Given the description of an element on the screen output the (x, y) to click on. 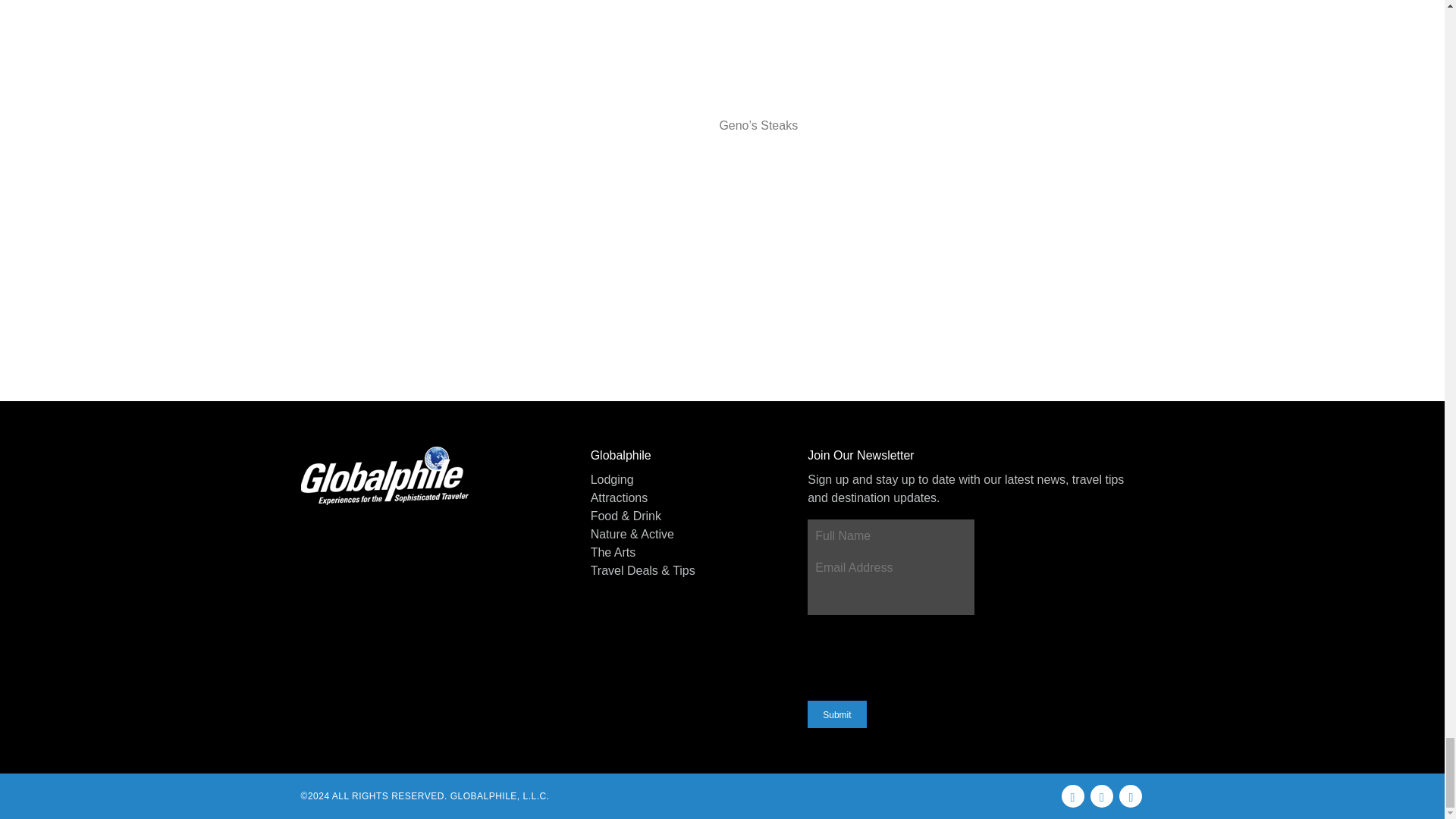
The Arts (686, 552)
Submit (837, 714)
Attractions (686, 497)
Submit (837, 714)
Lodging (686, 479)
